Given the description of an element on the screen output the (x, y) to click on. 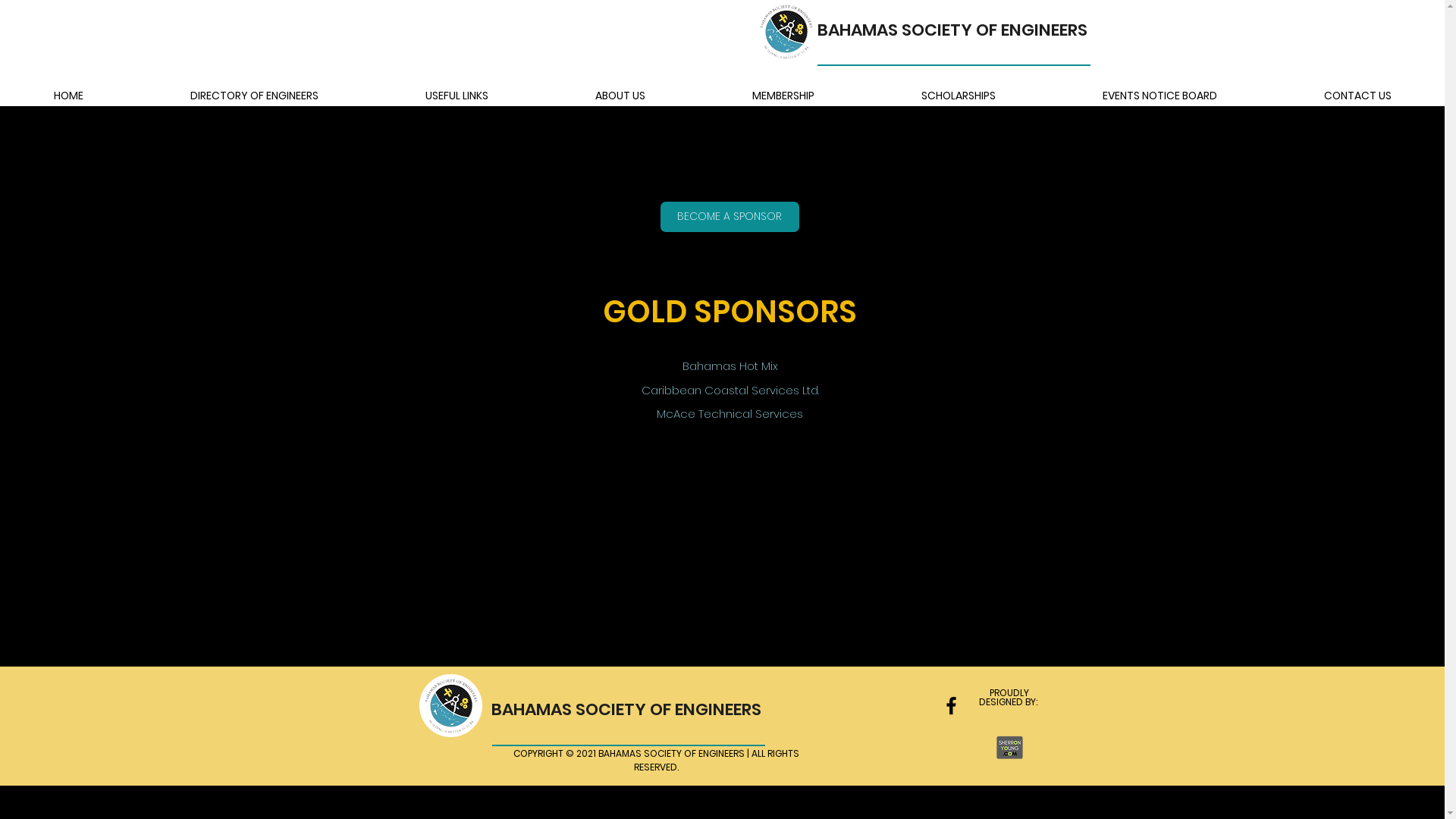
BAHAMAS SOCIETY OF ENGINEERS Element type: text (952, 29)
DIRECTORY OF ENGINEERS Element type: text (253, 95)
BAHAMAS SOCIETY OF ENGINEERS Element type: text (626, 709)
CONTACT US Element type: text (1357, 95)
HOME Element type: text (68, 95)
USEFUL LINKS Element type: text (456, 95)
SCHOLARSHIPS Element type: text (957, 95)
MEMBERSHIP Element type: text (782, 95)
EVENTS NOTICE BOARD Element type: text (1159, 95)
ABOUT US Element type: text (619, 95)
